Given the description of an element on the screen output the (x, y) to click on. 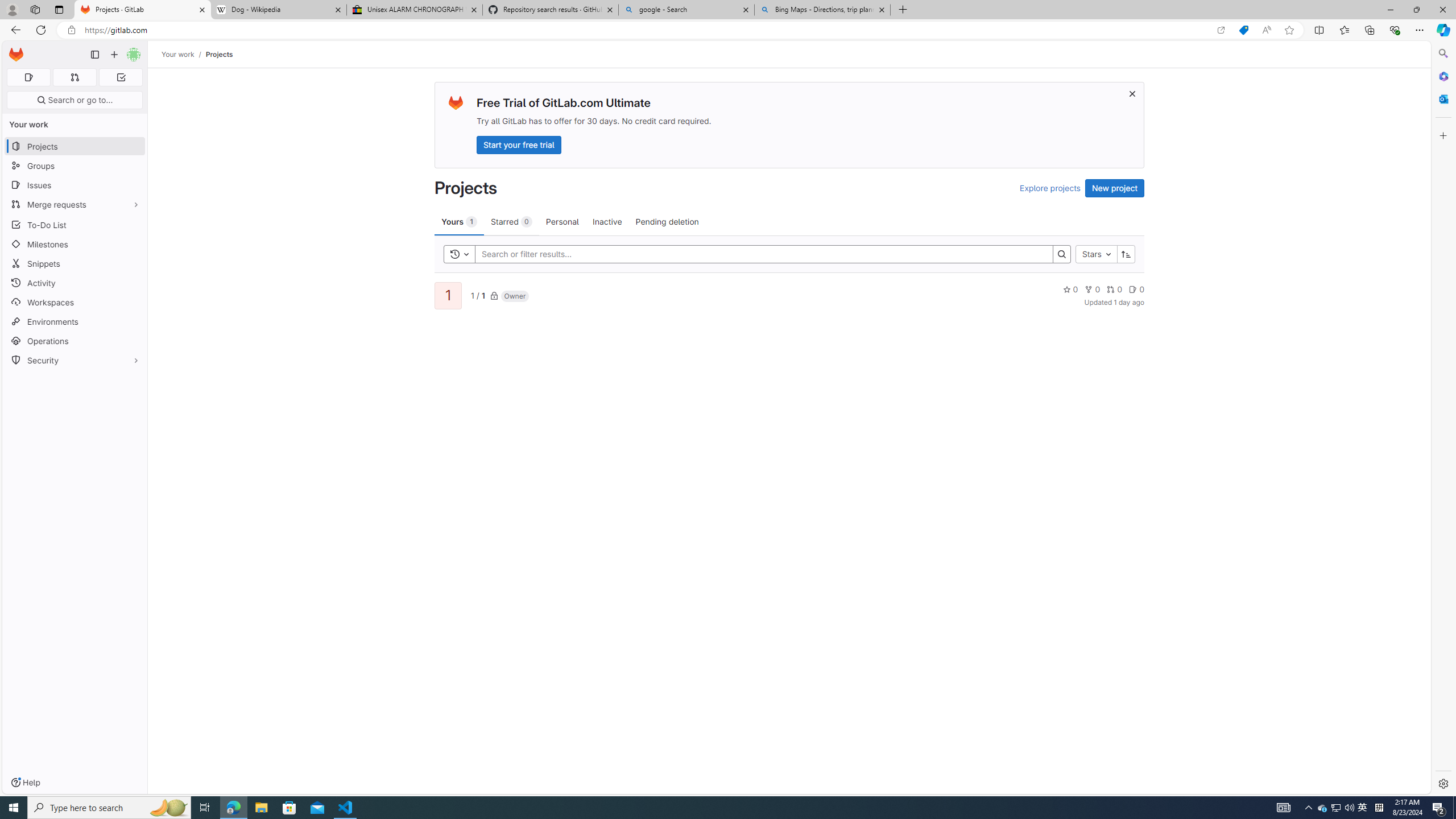
Personal (561, 221)
New project (1114, 187)
Operations (74, 340)
Groups (74, 165)
Dismiss trial promotion (1131, 93)
Class: s16 gl-icon gl-button-icon  (1132, 93)
